Given the description of an element on the screen output the (x, y) to click on. 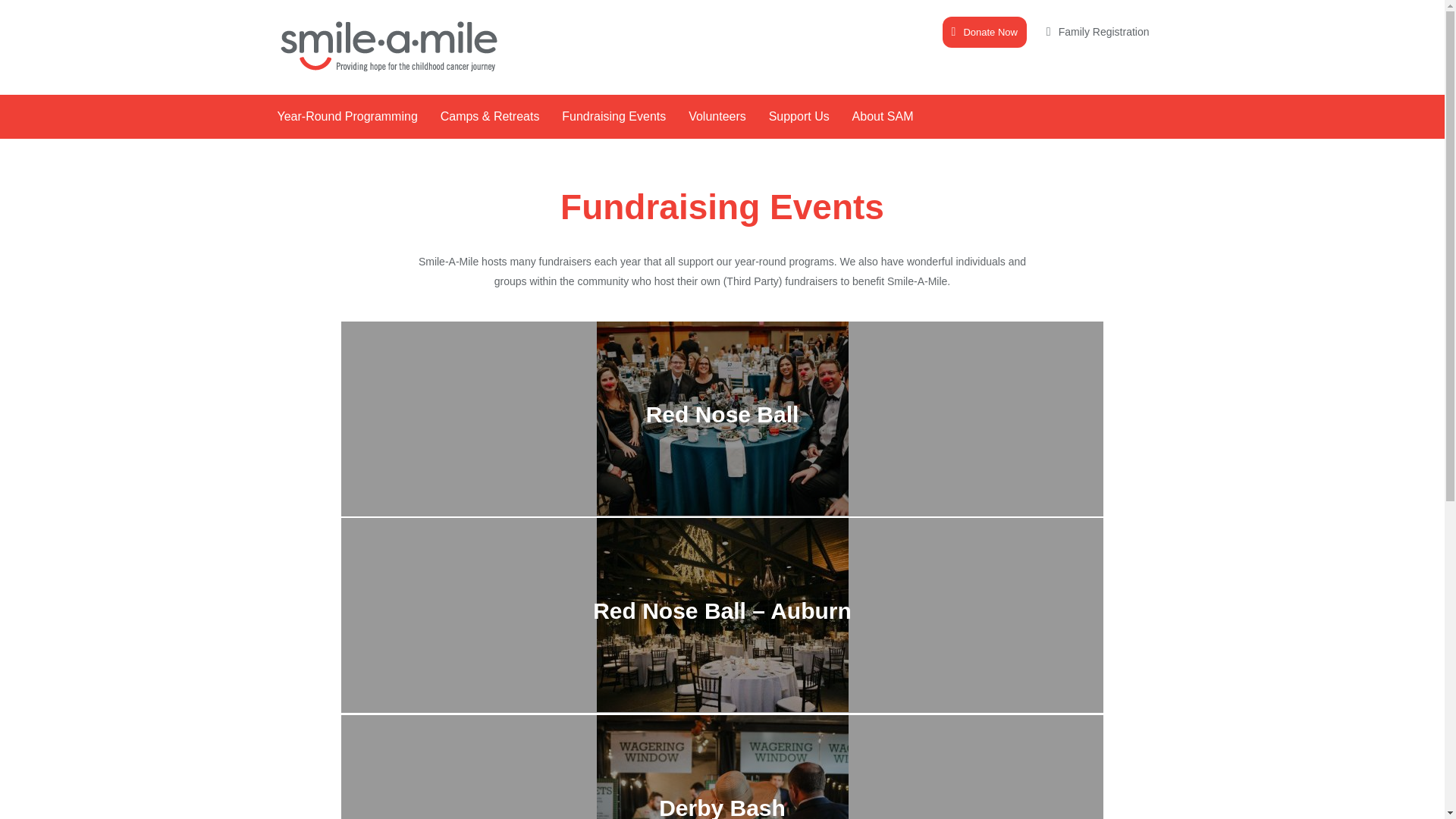
Year-Round Programming (346, 116)
Support Us (799, 116)
Donate Now (984, 31)
Smile-A-Mile (389, 45)
Red Nose Ball (721, 511)
Volunteers (716, 116)
Family Registration (1098, 31)
About SAM (883, 116)
Fundraising Events (613, 116)
